Given the description of an element on the screen output the (x, y) to click on. 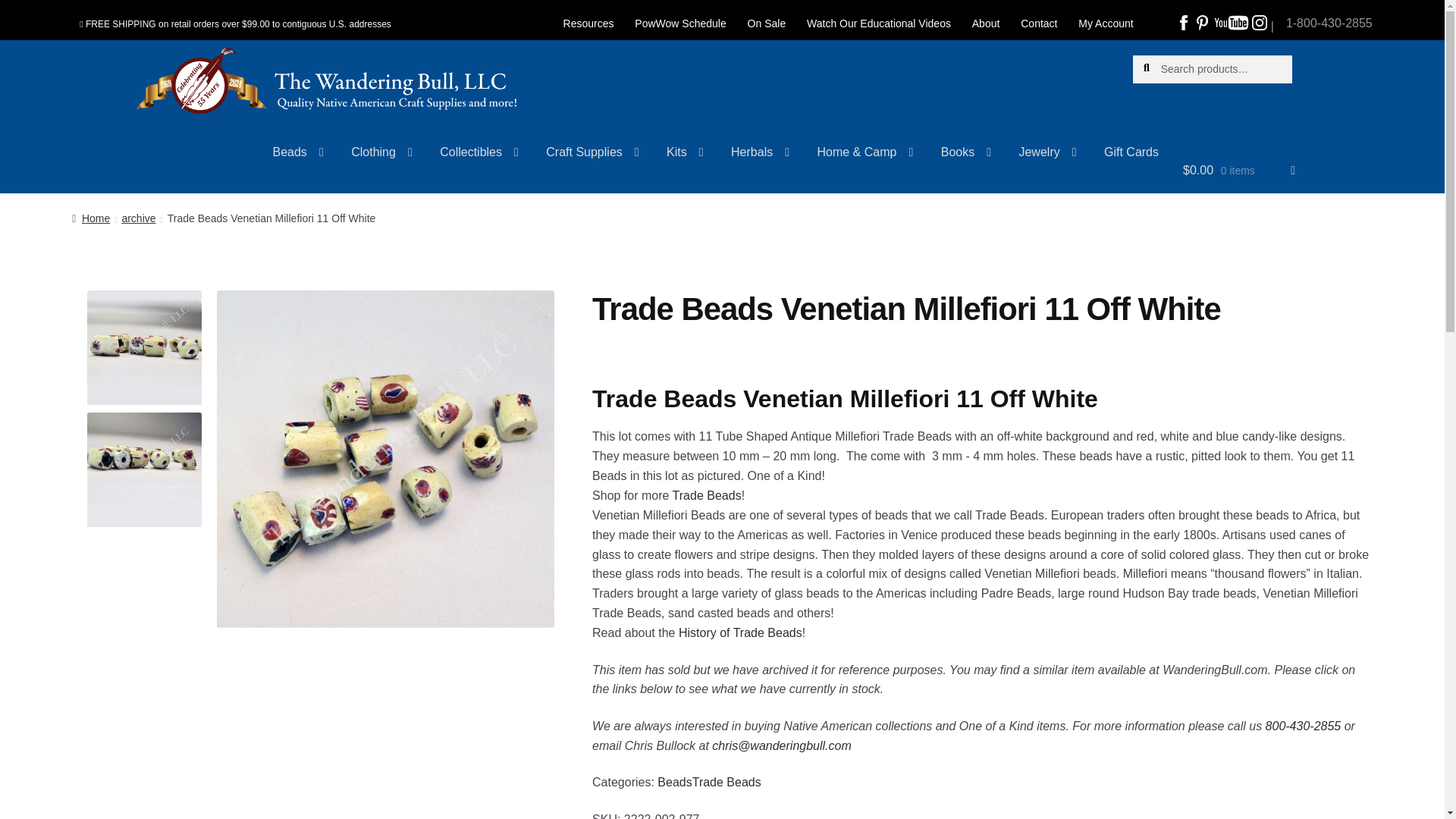
Contact (1038, 23)
On Sale (766, 23)
1-800-430-2855 (1329, 16)
About (985, 23)
Watch Our Educational Videos (878, 23)
View your shopping cart (1238, 176)
Resources (588, 23)
My Account (1104, 23)
PowWow Schedule (680, 23)
